Given the description of an element on the screen output the (x, y) to click on. 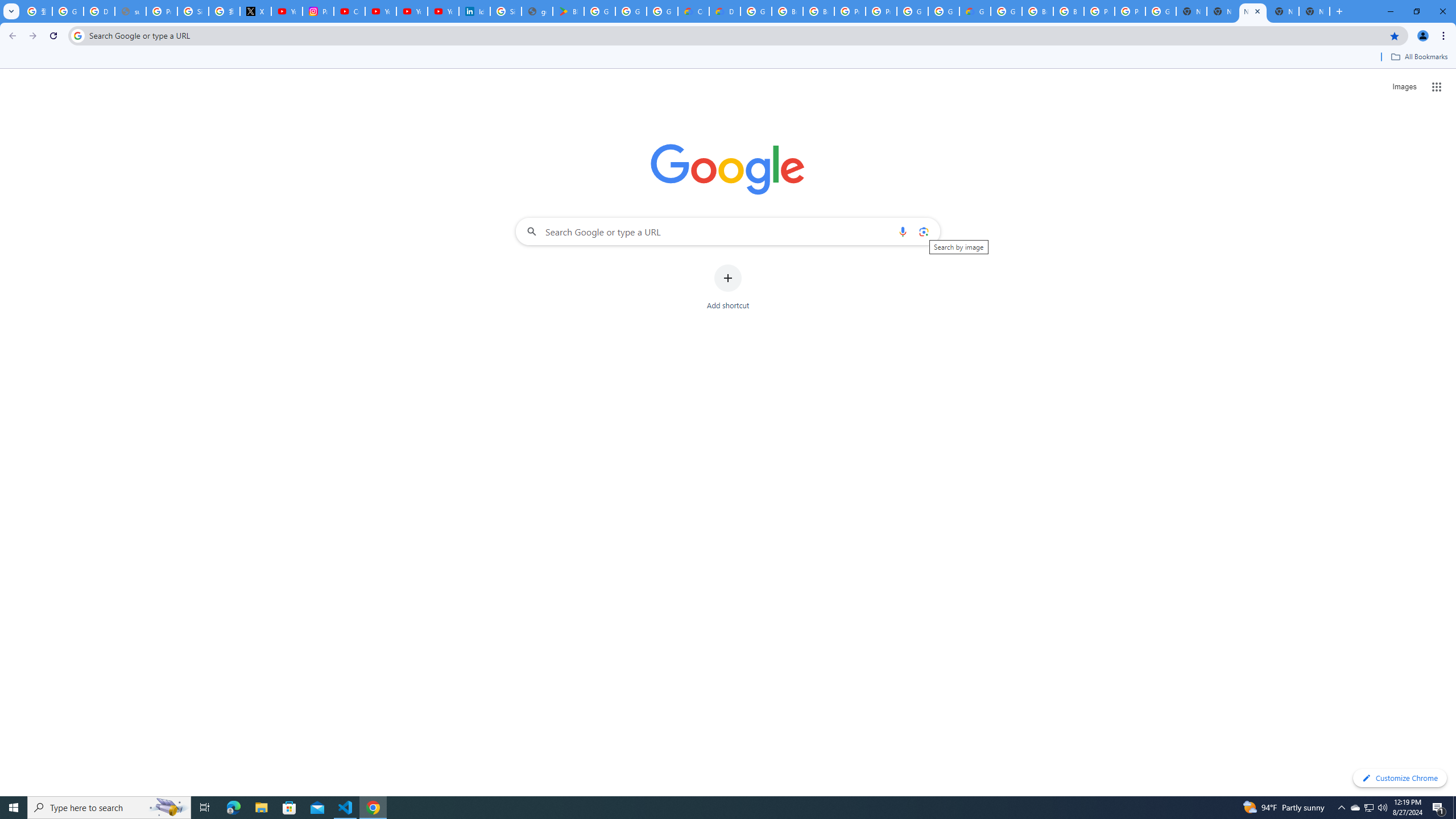
Browse Chrome as a guest - Computer - Google Chrome Help (787, 11)
Google Cloud Platform (1160, 11)
Google Cloud Estimate Summary (974, 11)
Bookmarks (728, 58)
google_privacy_policy_en.pdf (536, 11)
Google Cloud Platform (943, 11)
